Given the description of an element on the screen output the (x, y) to click on. 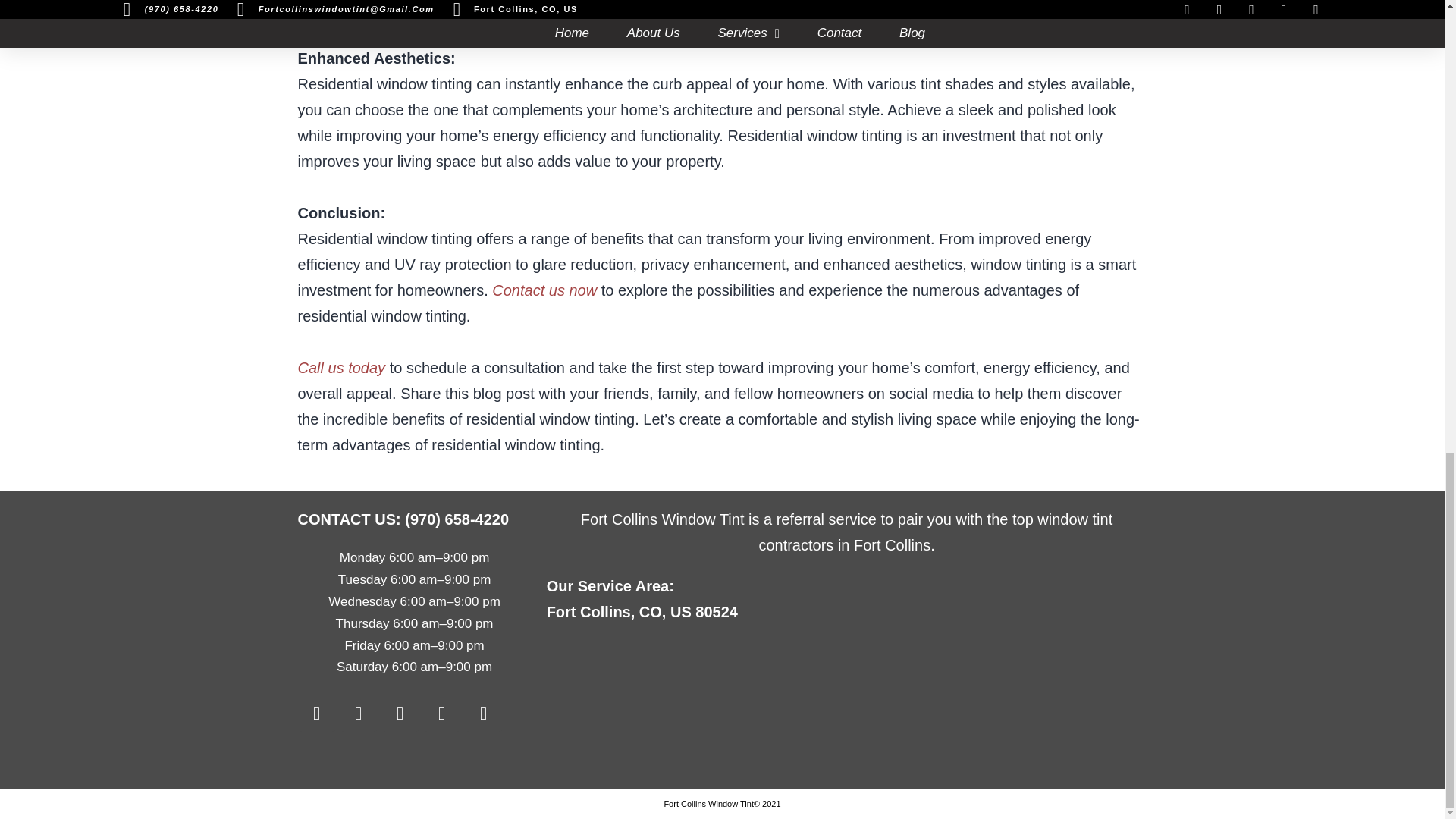
Fort Collins, CO, US (847, 706)
